Given the description of an element on the screen output the (x, y) to click on. 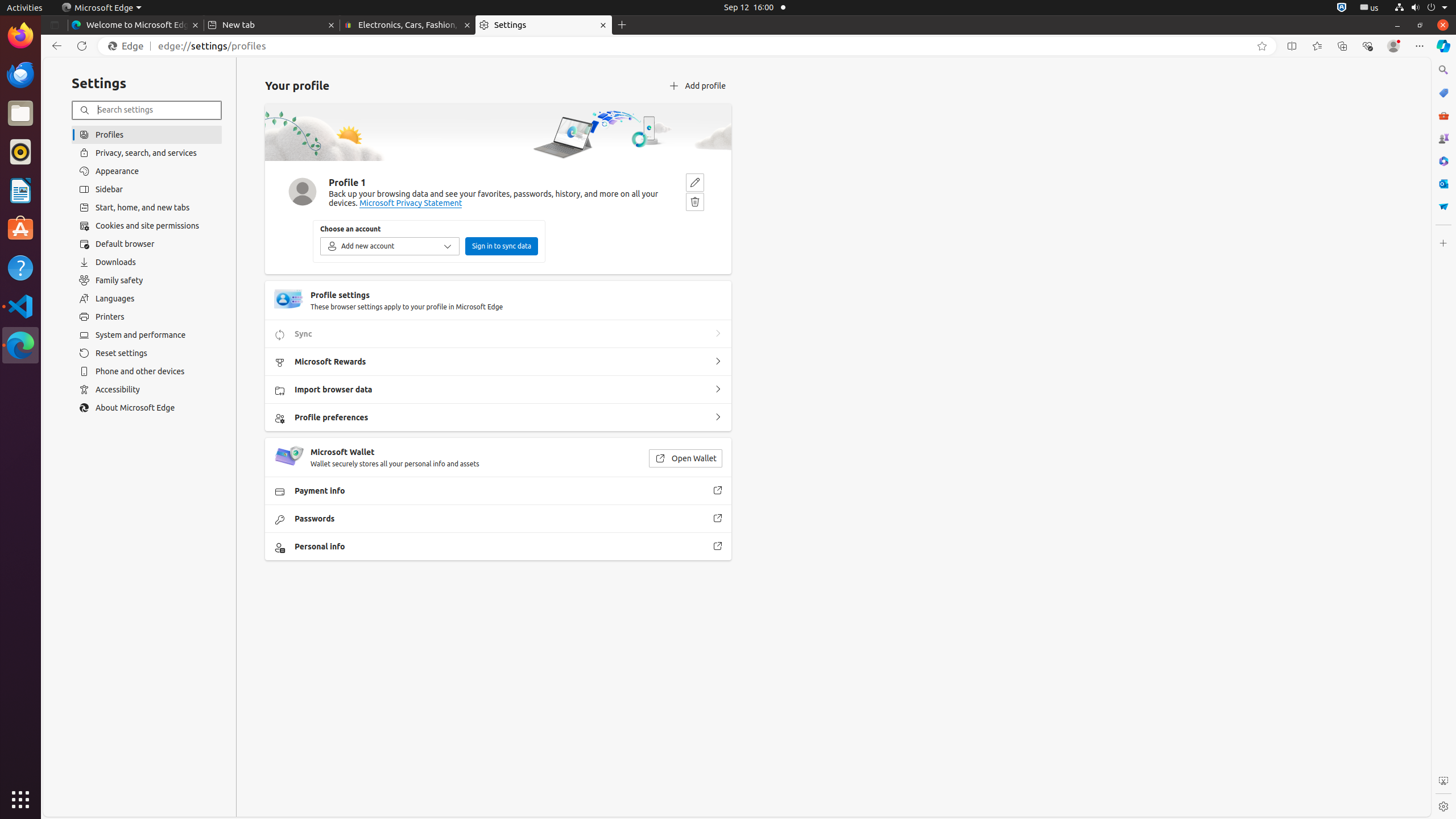
Customize Element type: push-button (1443, 243)
:1.72/StatusNotifierItem Element type: menu (1341, 7)
Open Wallet Element type: push-button (685, 458)
Add profile Element type: push-button (696, 85)
Visual Studio Code Element type: push-button (20, 306)
